Given the description of an element on the screen output the (x, y) to click on. 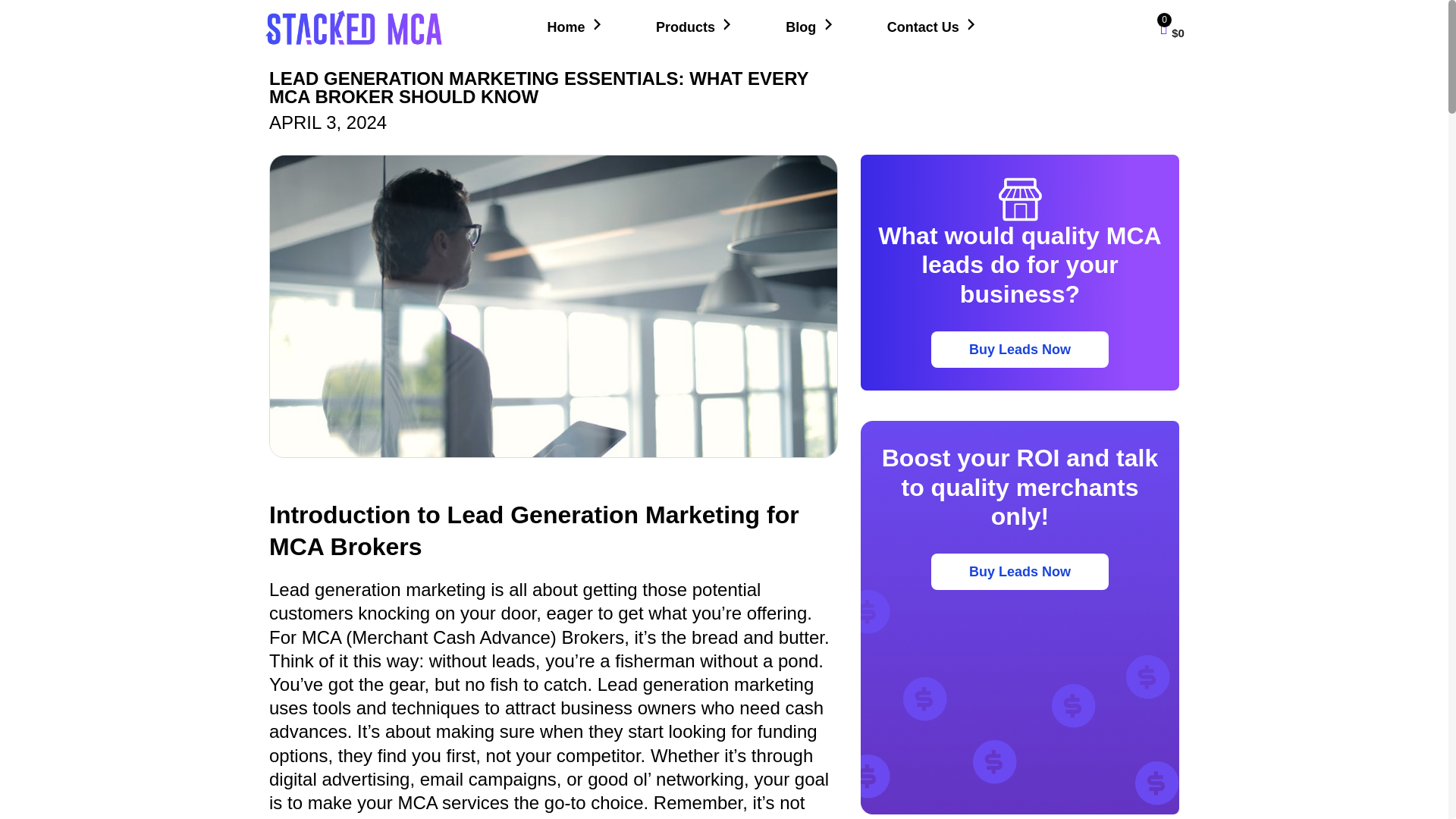
Blog (810, 26)
Contact Us (933, 26)
STACKED MCA (354, 26)
Products (695, 26)
Contact Us (933, 26)
Blog (810, 26)
STACKED MCA (576, 26)
Home (576, 26)
Products (695, 26)
